Given the description of an element on the screen output the (x, y) to click on. 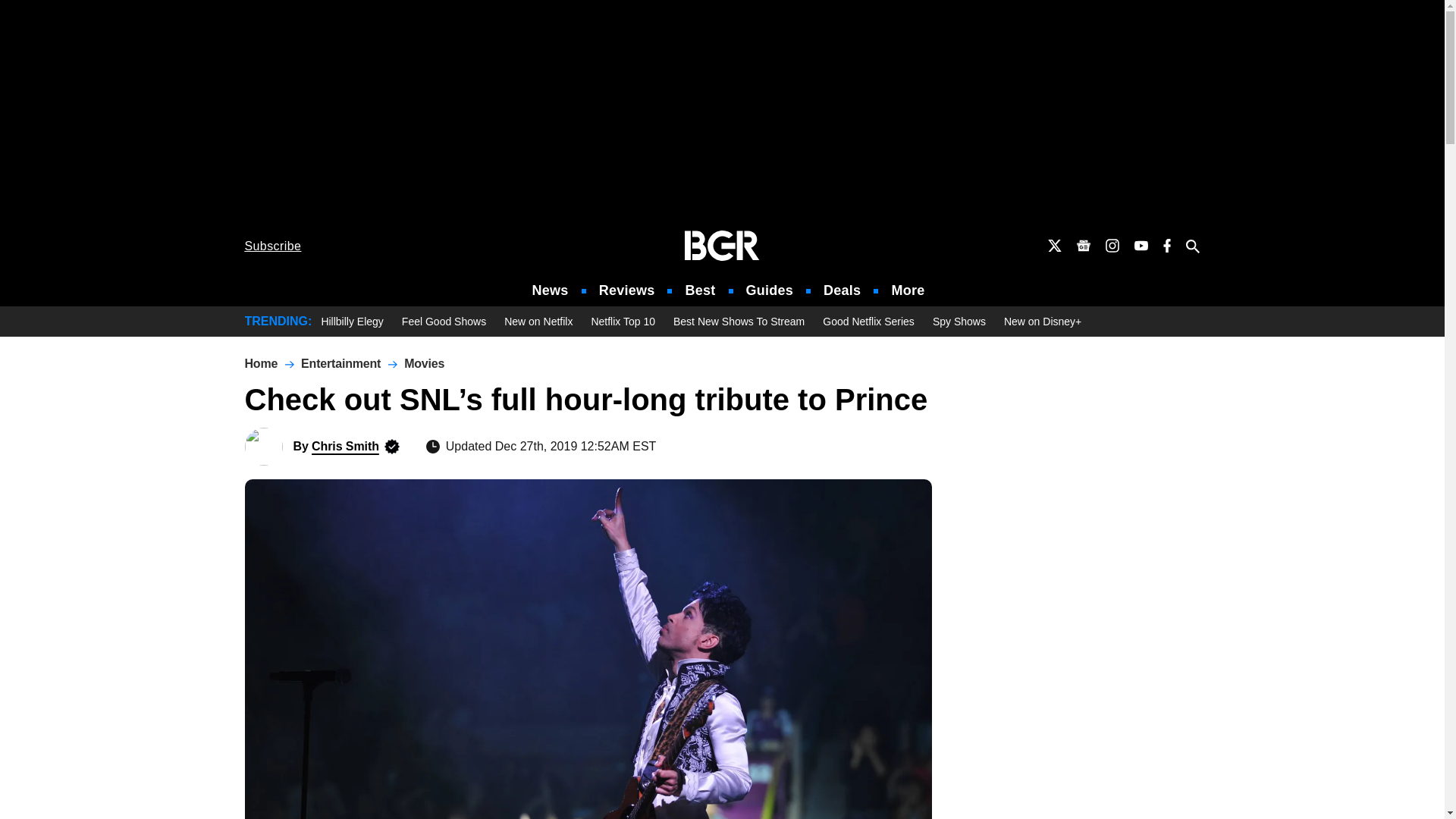
Best (699, 290)
Guides (769, 290)
Reviews (626, 290)
Deals (842, 290)
Posts by Chris Smith (344, 445)
News (550, 290)
Subscribe (272, 245)
More (907, 290)
